Given the description of an element on the screen output the (x, y) to click on. 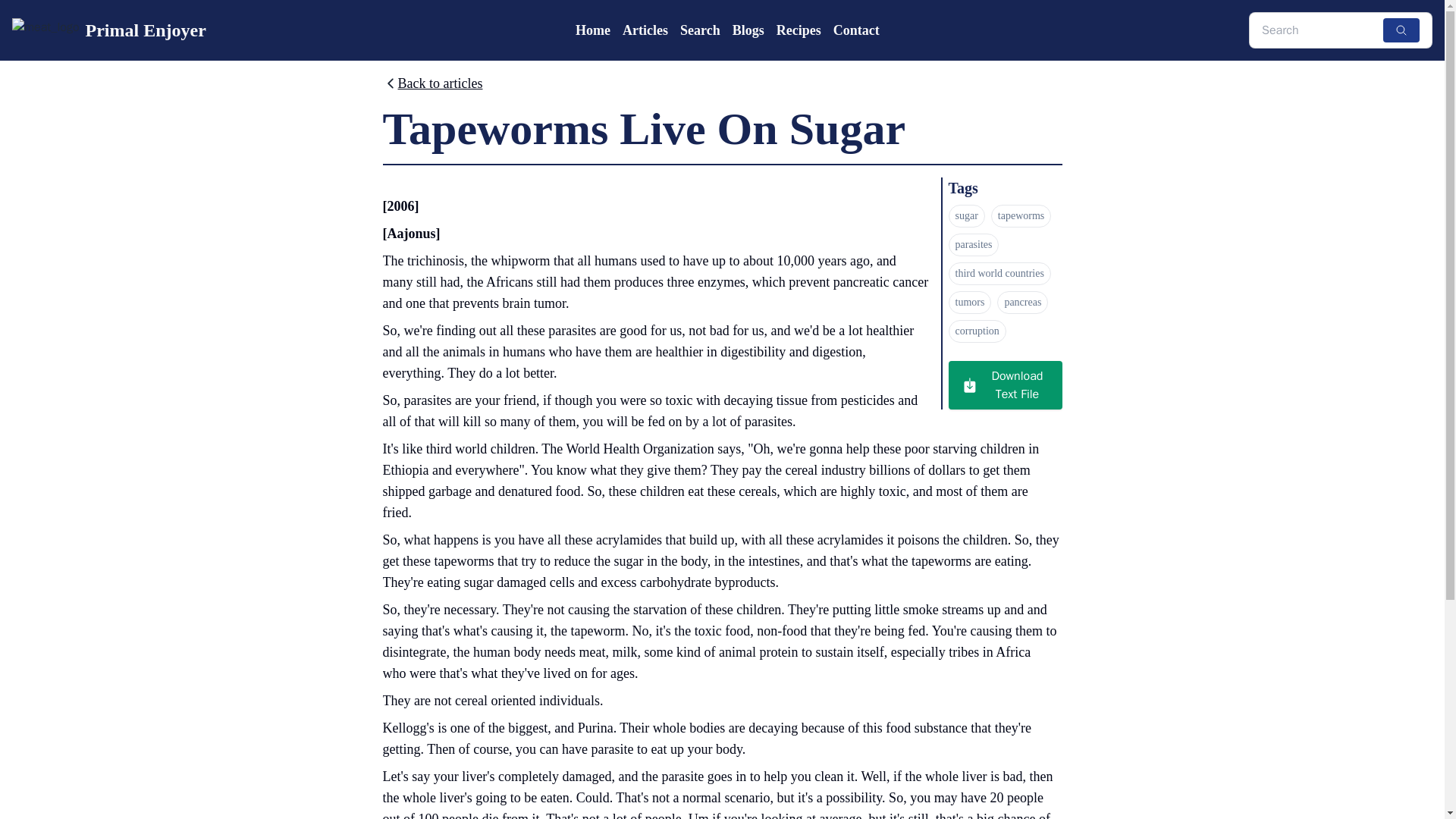
Blogs (748, 29)
Primal Enjoyer (108, 30)
Download Text File (1004, 385)
Back to articles (431, 86)
Search (699, 29)
Home (592, 29)
Articles (645, 29)
Contact (855, 29)
Recipes (798, 29)
